Given the description of an element on the screen output the (x, y) to click on. 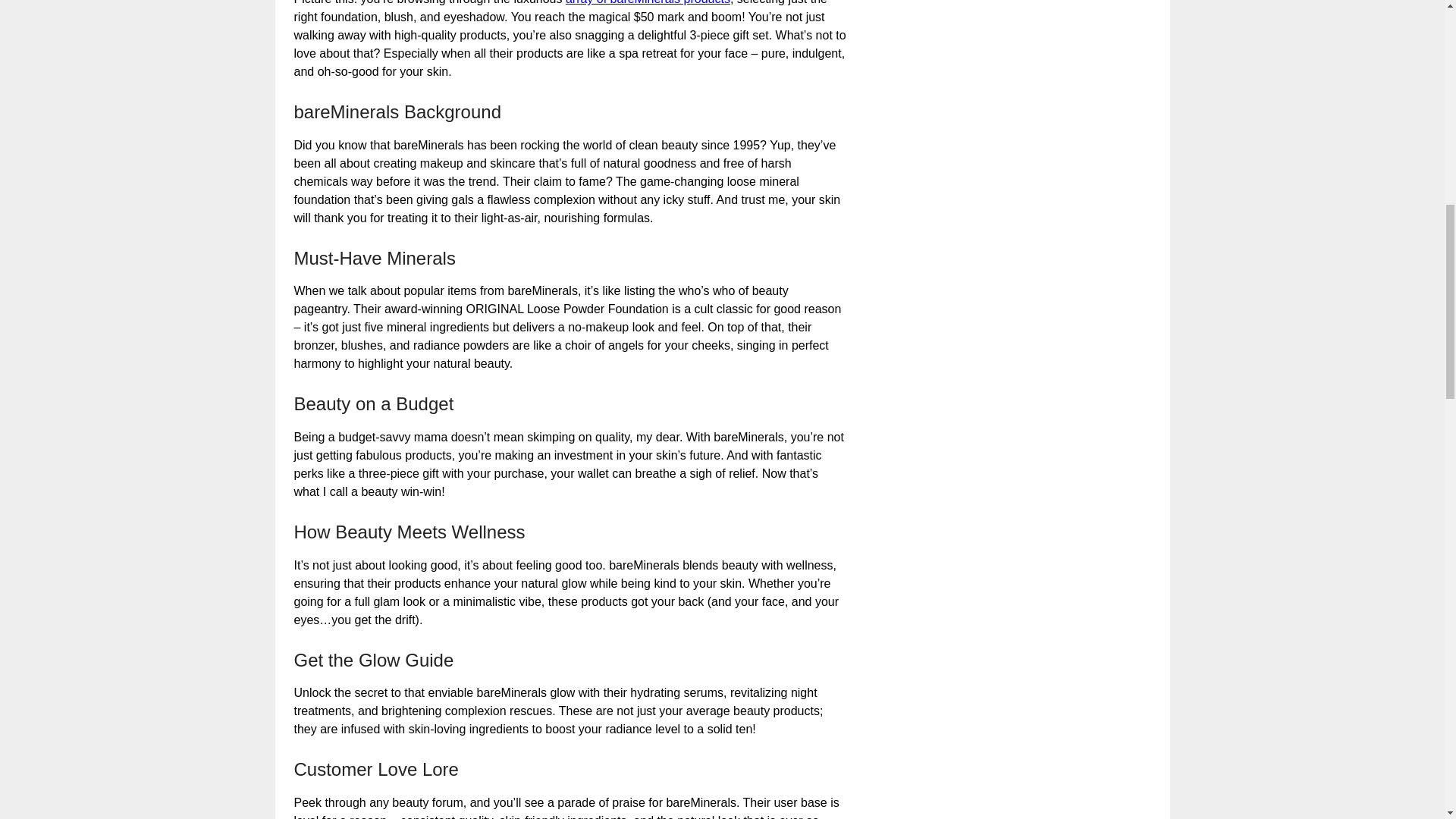
array of bareMinerals products (648, 2)
